Given the description of an element on the screen output the (x, y) to click on. 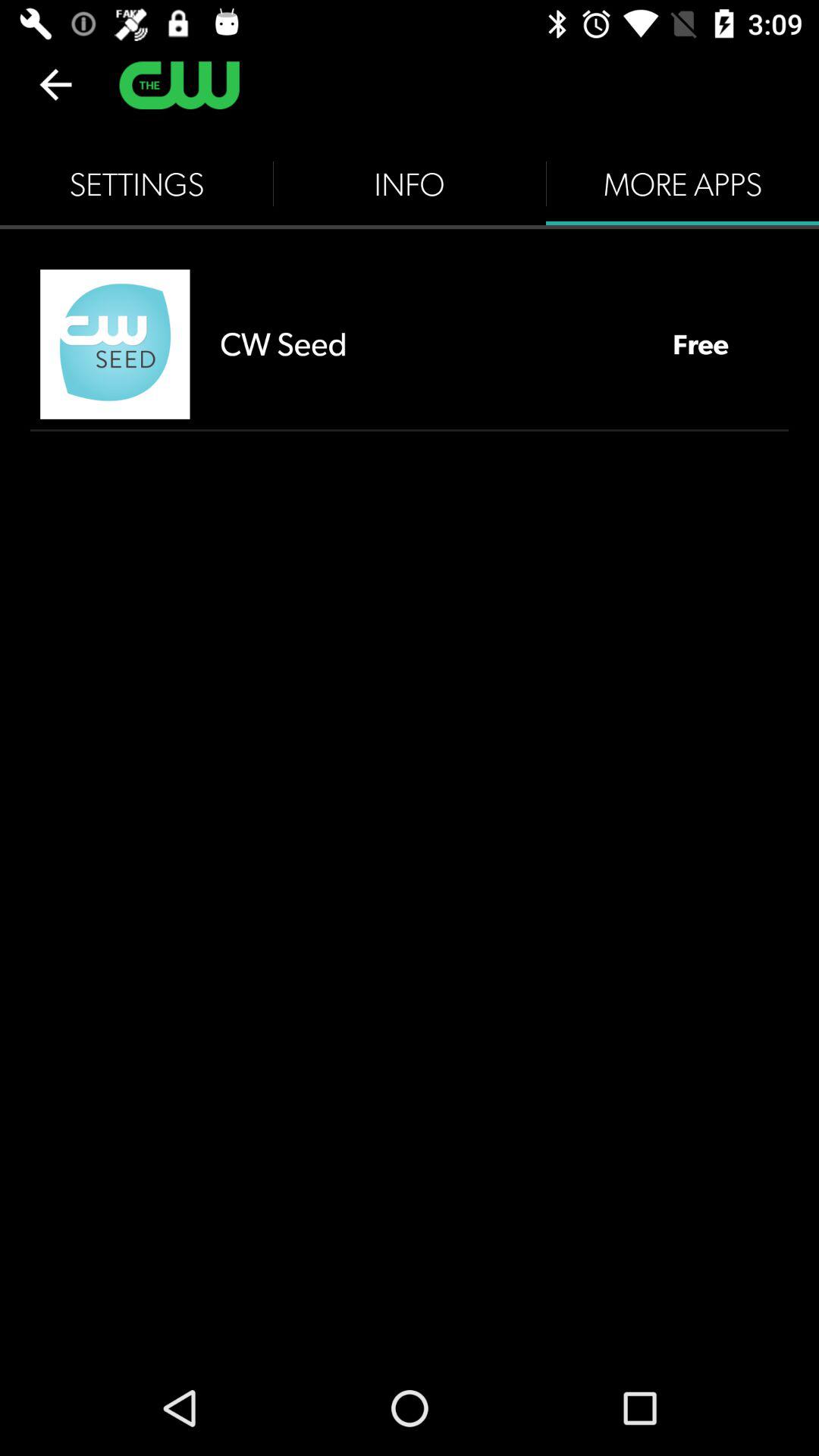
turn on item below settings icon (114, 344)
